Given the description of an element on the screen output the (x, y) to click on. 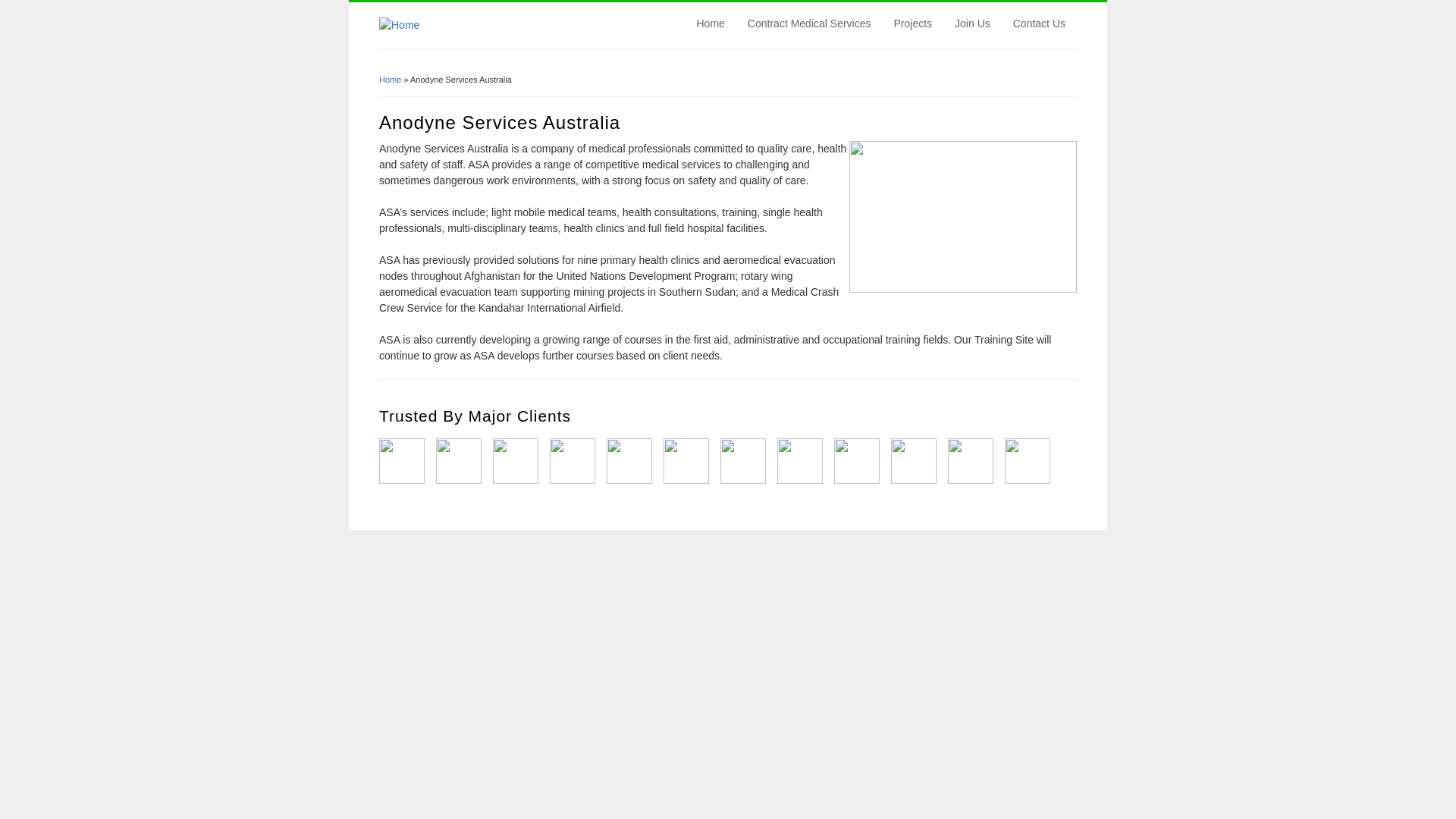
Home Element type: text (390, 79)
Home Element type: hover (399, 24)
Home Element type: text (710, 23)
Projects Element type: text (912, 23)
Contact Us Element type: text (1038, 23)
Join Us Element type: text (972, 23)
Contract Medical Services Element type: text (809, 23)
